Given the description of an element on the screen output the (x, y) to click on. 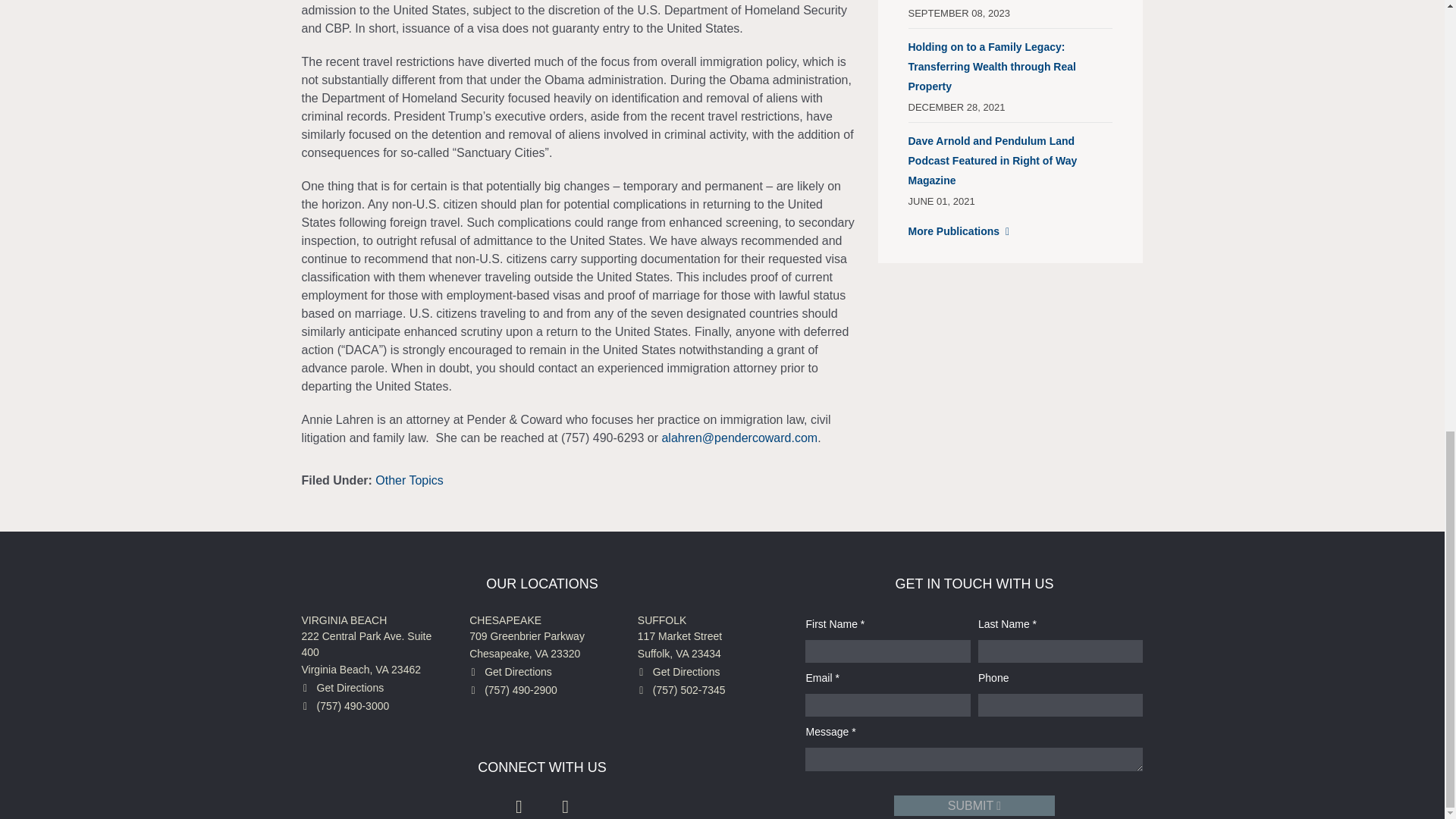
Go to the category page for Other Topics (409, 479)
